Given the description of an element on the screen output the (x, y) to click on. 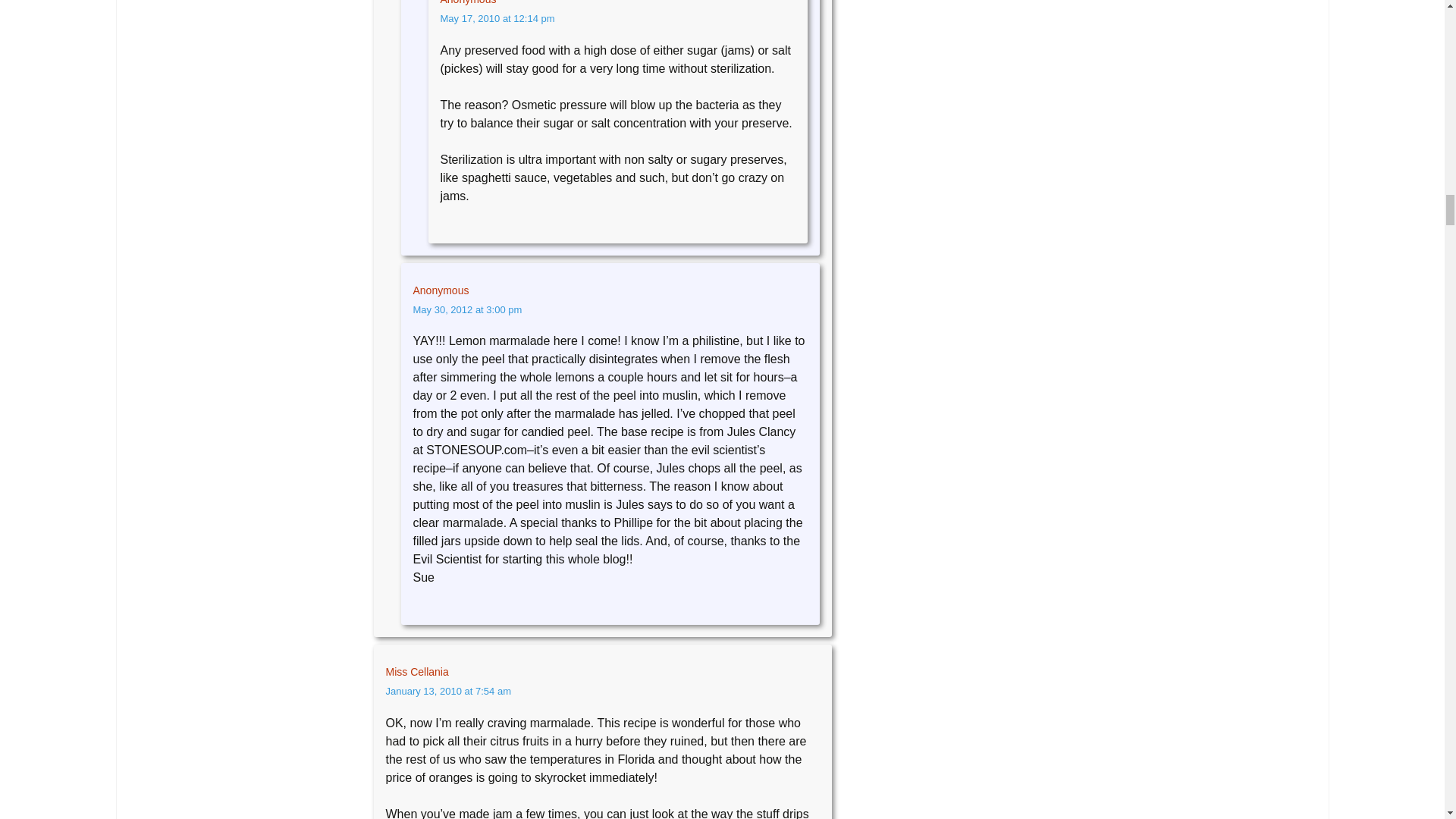
January 13, 2010 at 7:54 am (448, 690)
May 30, 2012 at 3:00 pm (466, 309)
May 17, 2010 at 12:14 pm (496, 18)
